Given the description of an element on the screen output the (x, y) to click on. 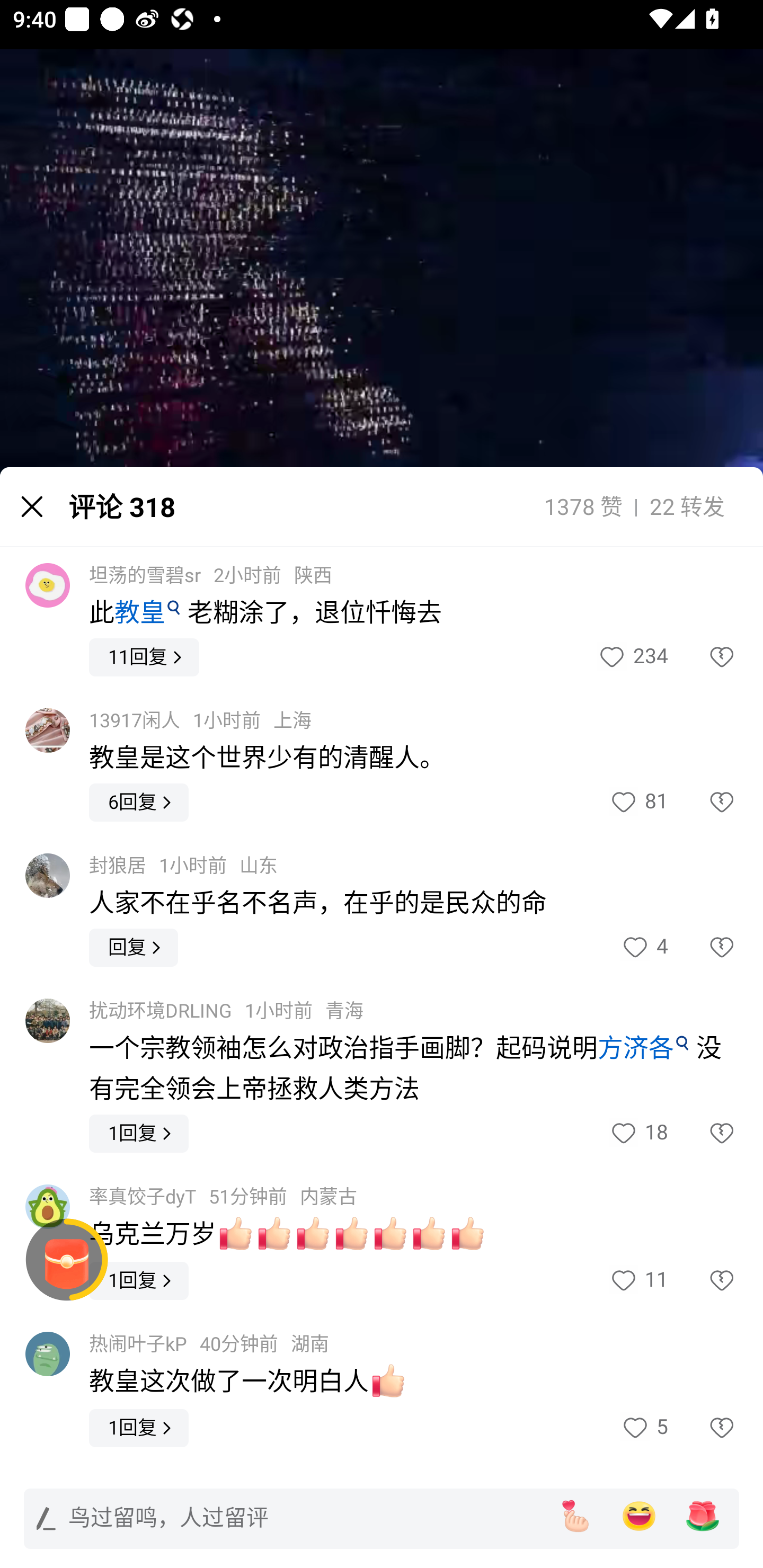
关闭 (31, 506)
坦荡的雪碧sr 2小时前 陕西 (210, 575)
11回复 (144, 656)
赞234 赞 (631, 656)
踩 (702, 656)
13917闲人 1小时前 上海 (200, 721)
6回复 (138, 802)
赞81 赞 (637, 802)
踩 (702, 802)
封狼居 1小时前 山东 (183, 865)
回复 (133, 947)
赞4 赞 (643, 947)
踩 (702, 947)
扰动环境DRLING 1小时前 青海 (226, 1011)
1回复 (138, 1133)
赞18 赞 (637, 1133)
踩 (702, 1133)
率真饺子dyT 51分钟前 内蒙古 (223, 1196)
阅读赚金币 (66, 1259)
1回复 (138, 1280)
赞11 赞 (637, 1280)
踩 (702, 1280)
热闹叶子kP 40分钟前 湖南 (208, 1344)
1回复 (138, 1428)
赞5 赞 (643, 1428)
踩 (702, 1428)
鸟过留鸣，人过留评 [比心] [大笑] [玫瑰] (381, 1518)
[比心] (574, 1516)
[大笑] (638, 1516)
[玫瑰] (702, 1516)
